Given the description of an element on the screen output the (x, y) to click on. 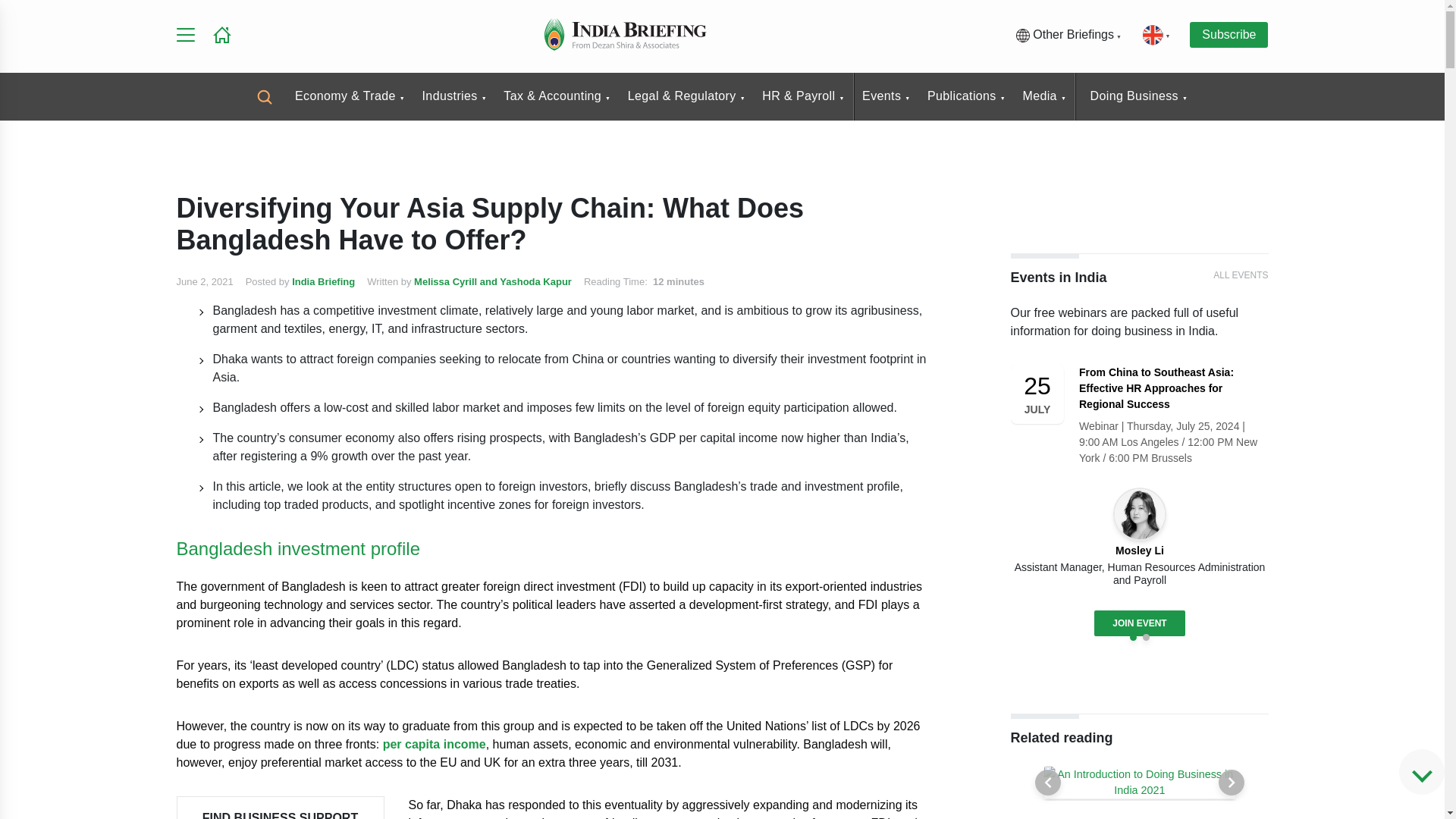
View all posts by India Briefing (323, 281)
